Given the description of an element on the screen output the (x, y) to click on. 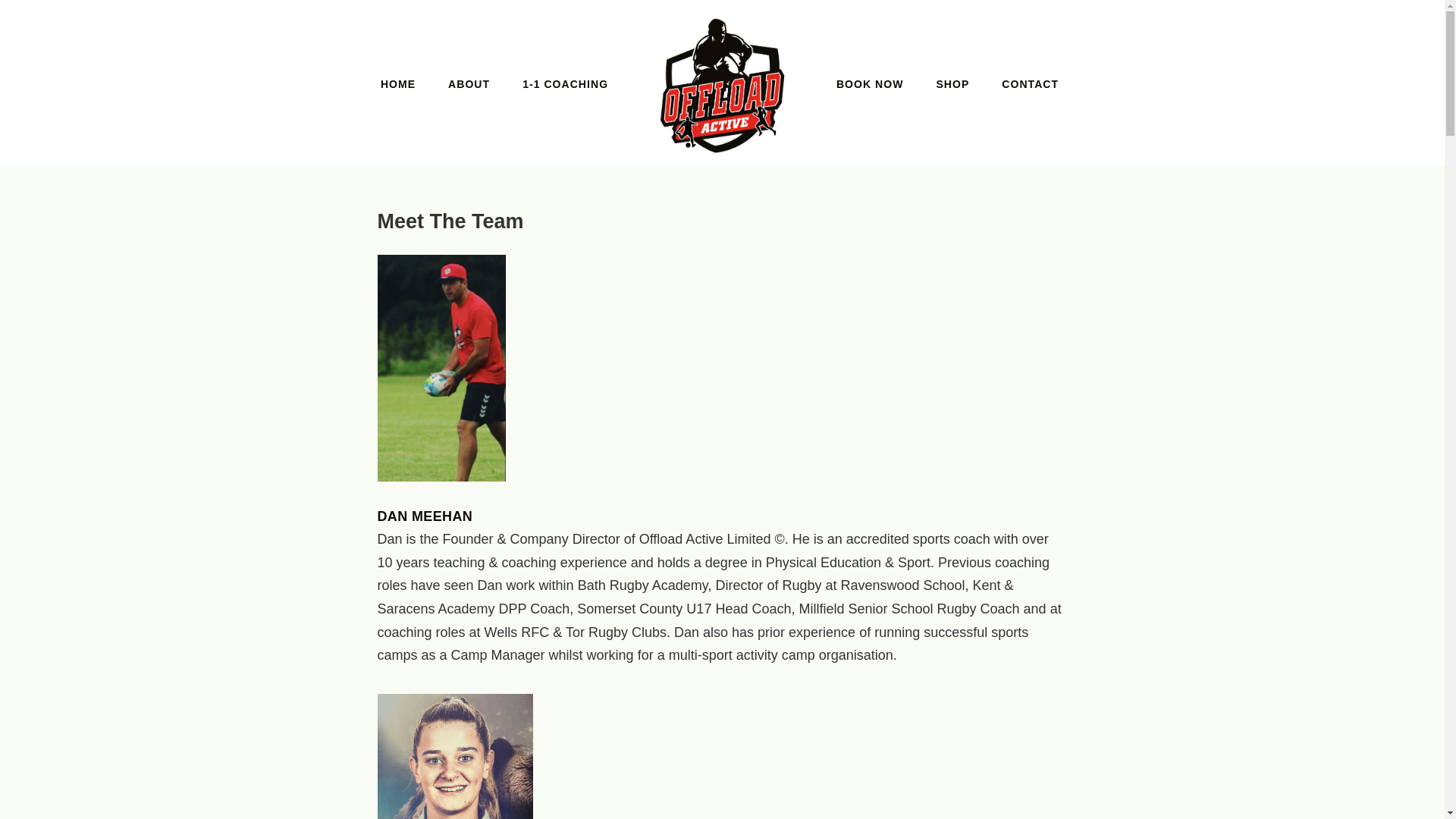
SHOP (952, 83)
ABOUT (468, 83)
1-1 COACHING (565, 83)
HOME (397, 83)
BOOK NOW (869, 83)
CONTACT (1029, 83)
